Given the description of an element on the screen output the (x, y) to click on. 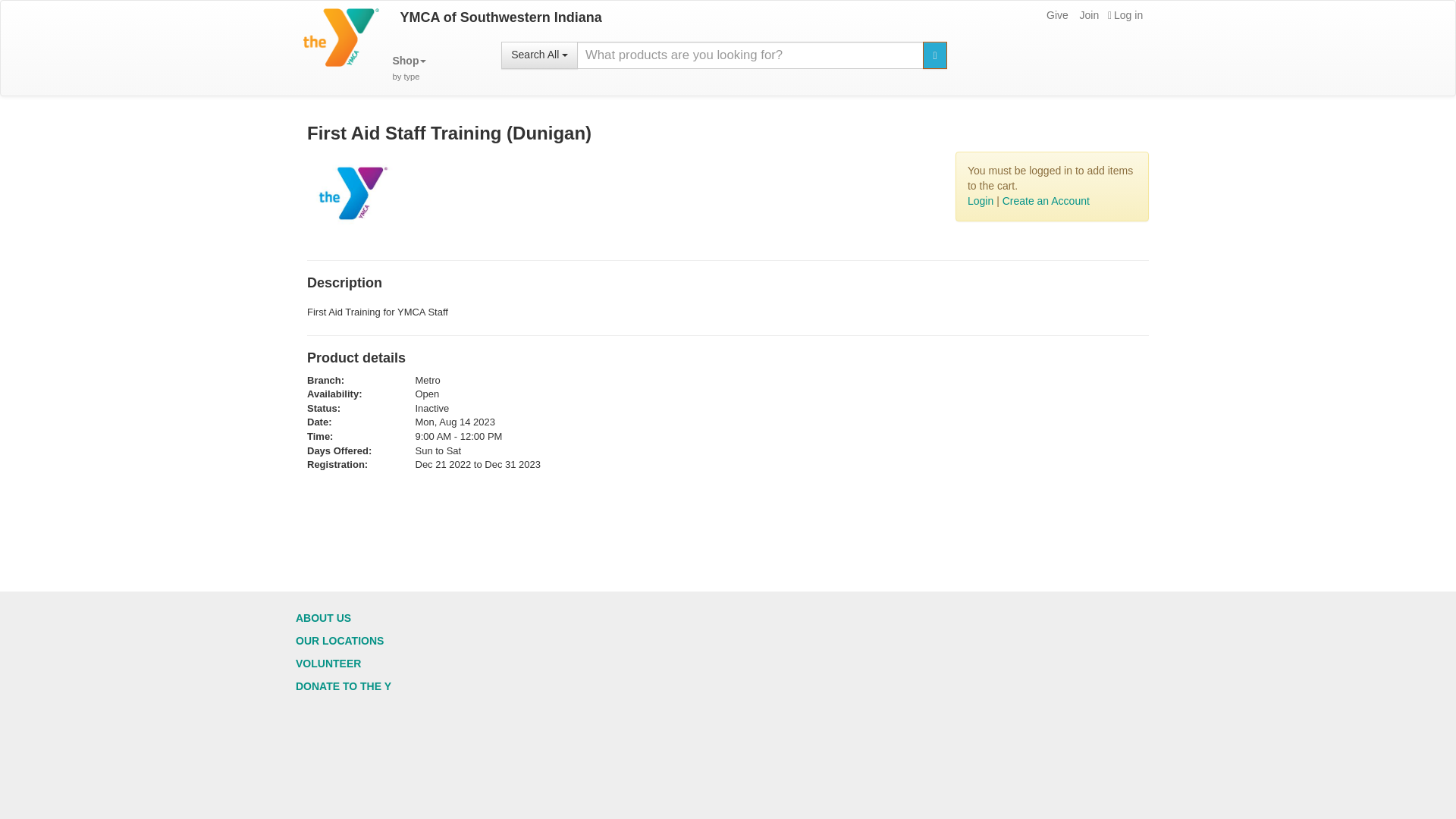
Give (1055, 15)
Join (1088, 15)
Log in (409, 68)
